Given the description of an element on the screen output the (x, y) to click on. 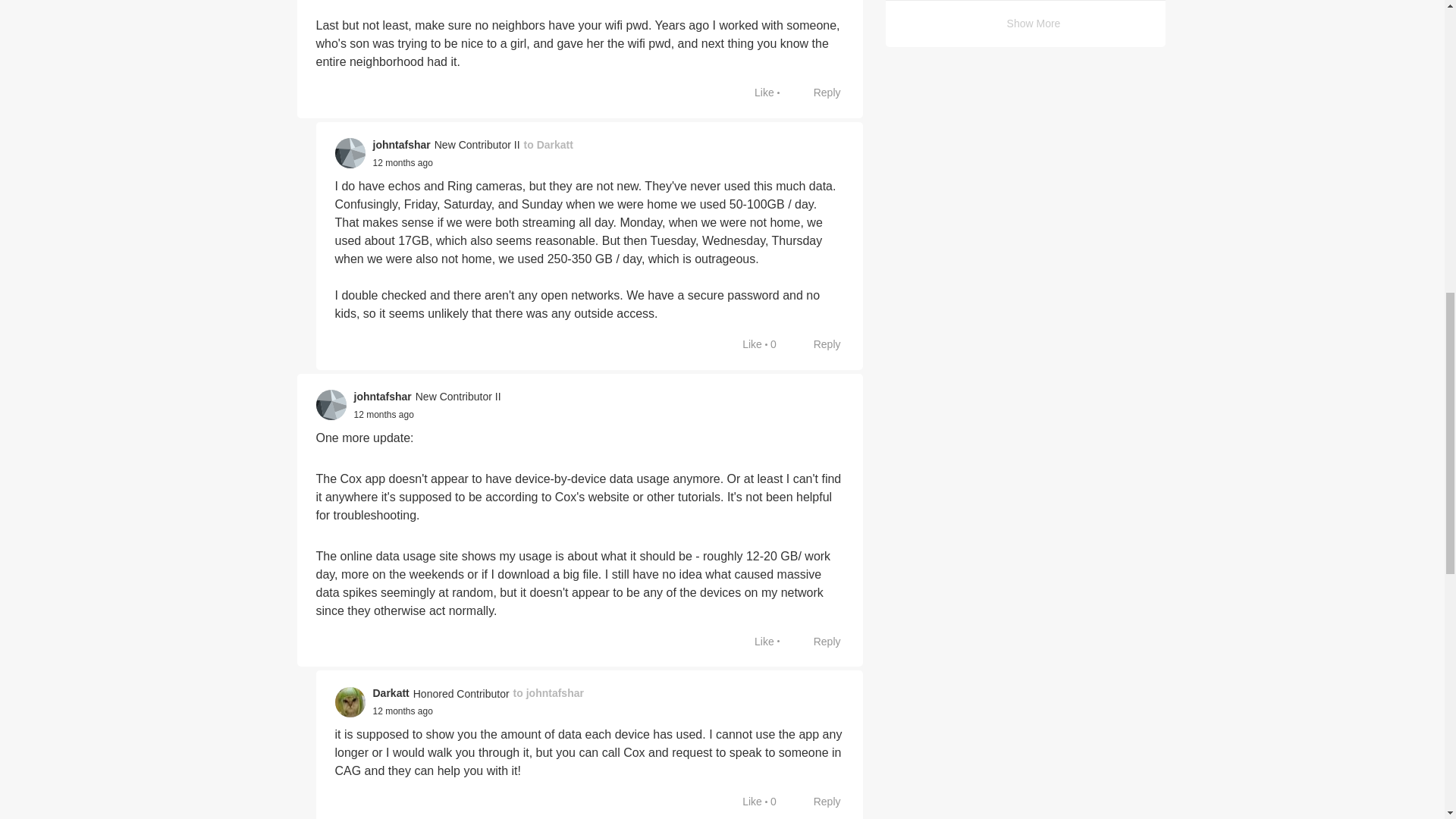
August 5, 2023 at 2:46 AM (402, 163)
August 15, 2023 at 9:55 PM (383, 414)
August 16, 2023 at 12:27 AM (402, 710)
